Given the description of an element on the screen output the (x, y) to click on. 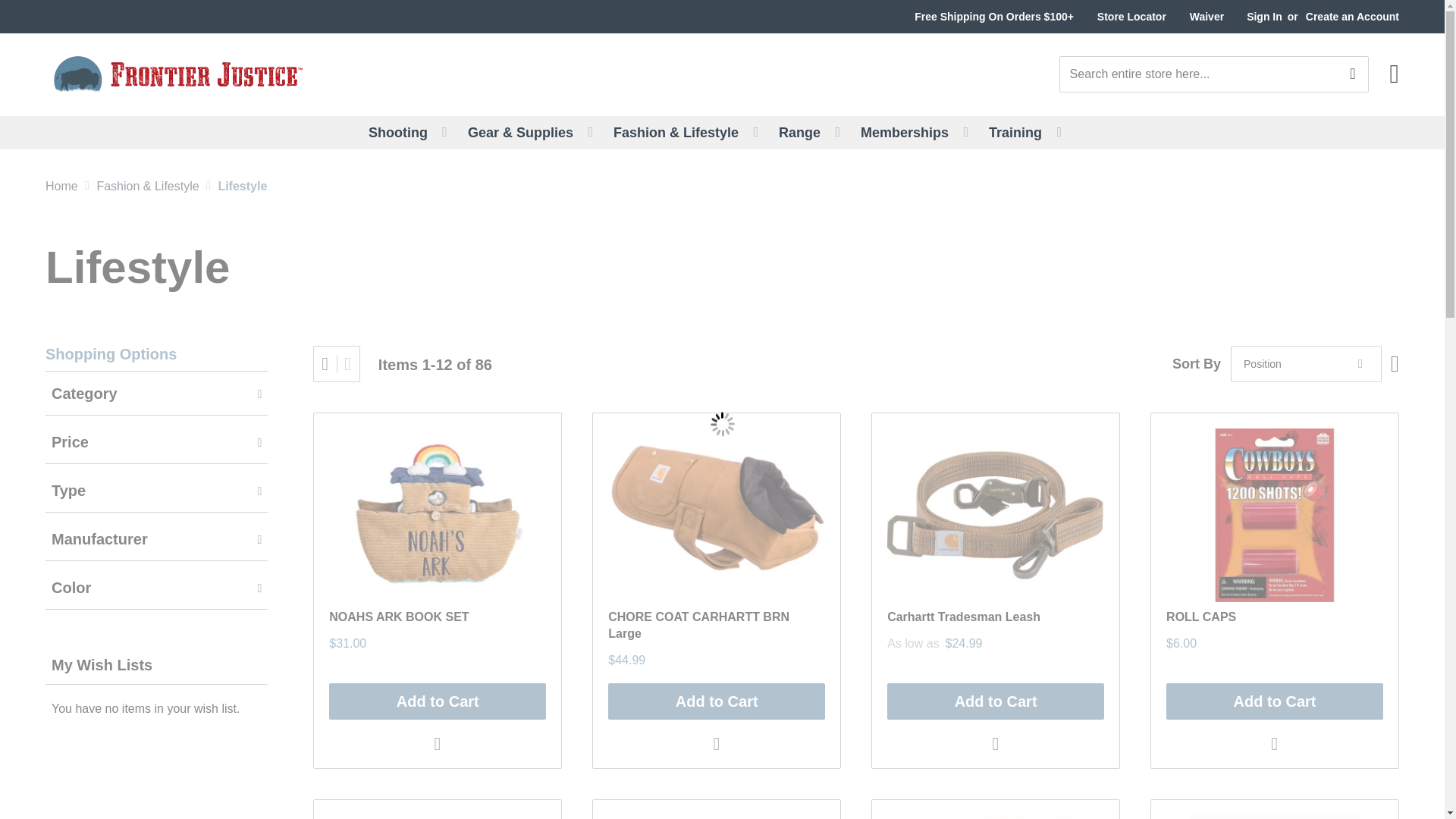
Add to Cart (994, 701)
Add to Wishlist (995, 743)
Add to Cart (716, 701)
Sign In (1264, 16)
Create an Account (1352, 16)
Add to Wishlist (1275, 743)
Add to Cart (1274, 701)
Shooting (407, 132)
Waiver (1206, 16)
Add to Cart (437, 701)
Go to Home Page (61, 185)
Add to Wishlist (716, 743)
Store Locator (1131, 16)
Add to Wishlist (438, 743)
